Given the description of an element on the screen output the (x, y) to click on. 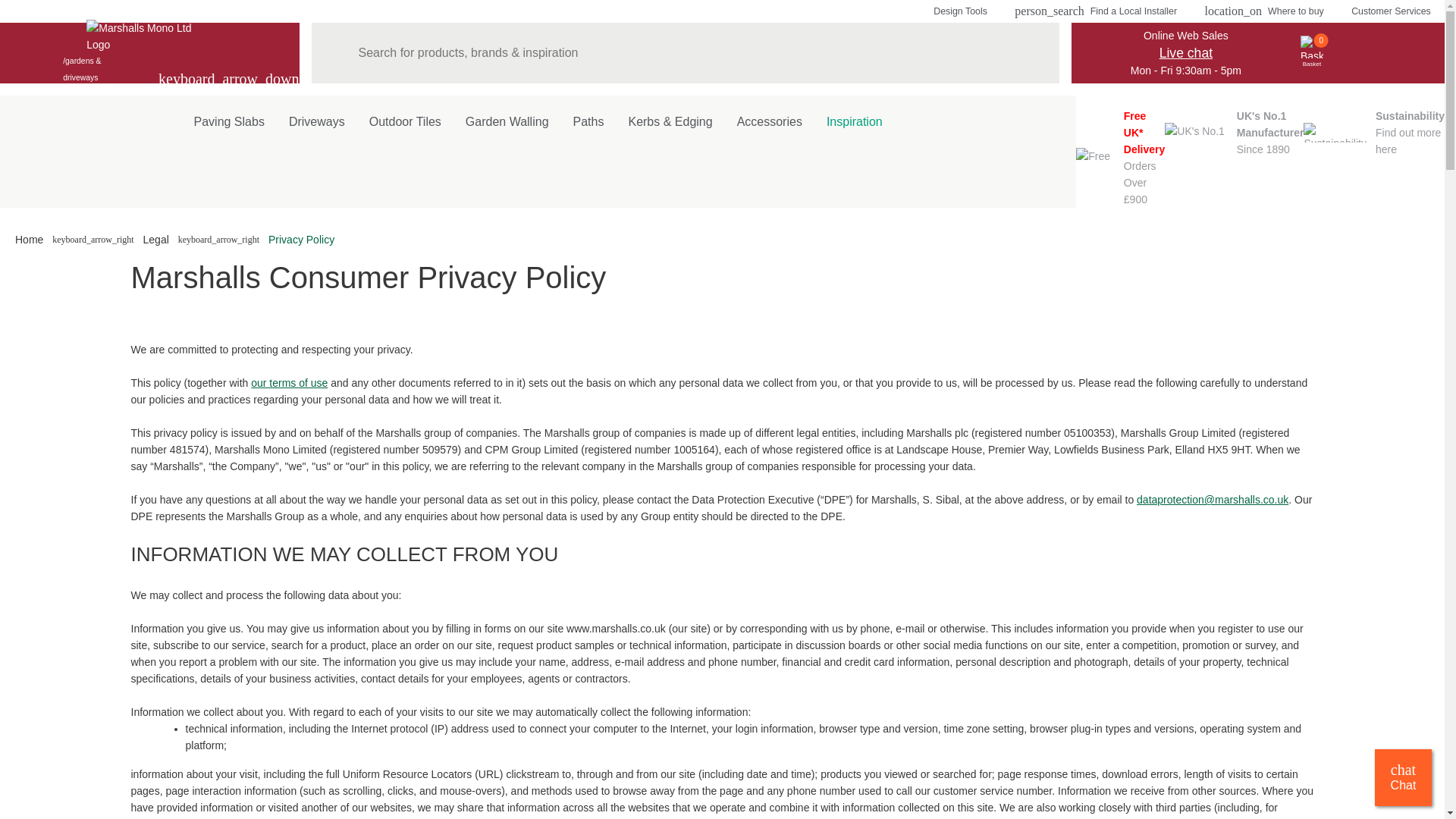
Design Tools (959, 11)
Find a Local Installer (1095, 11)
Customer Services (1390, 11)
Where to buy (1263, 11)
Paving Slabs (1233, 132)
